Given the description of an element on the screen output the (x, y) to click on. 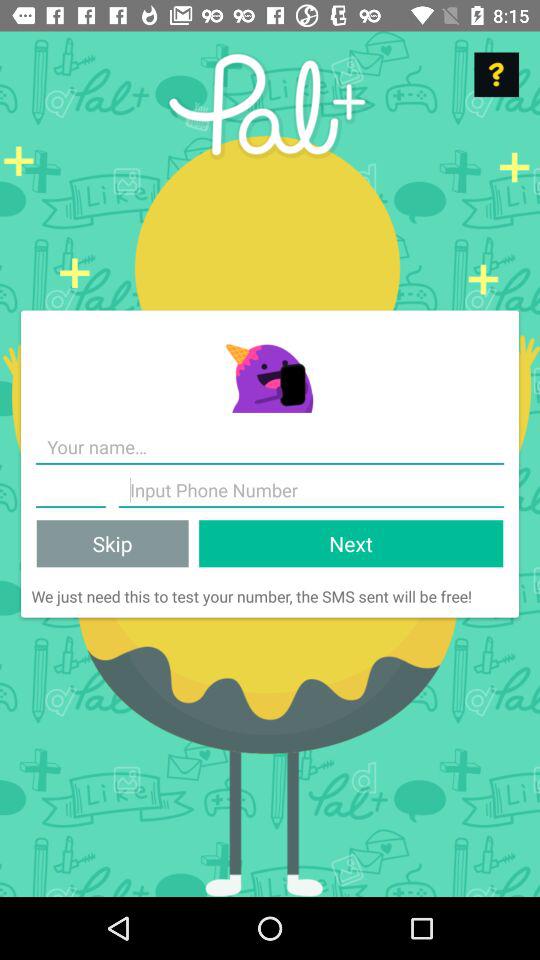
jump to next (351, 543)
